Given the description of an element on the screen output the (x, y) to click on. 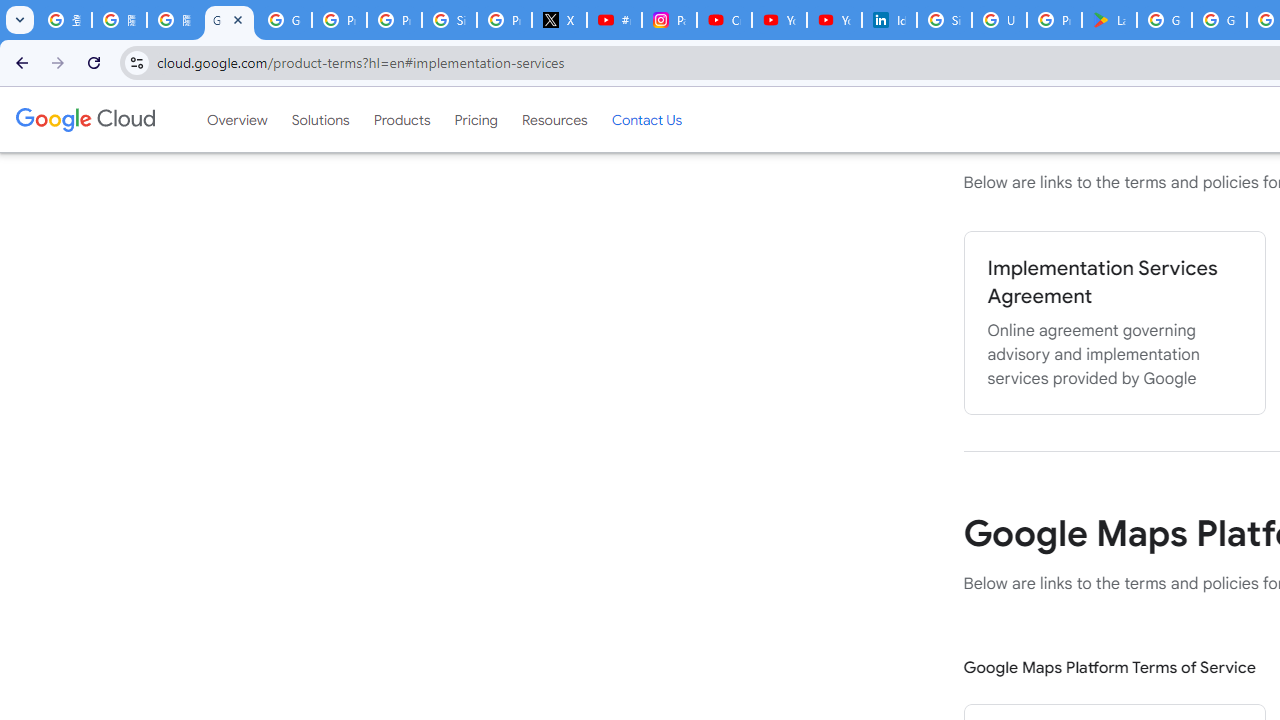
Products (401, 119)
Pricing (476, 119)
X (559, 20)
#nbabasketballhighlights - YouTube (614, 20)
Last Shelter: Survival - Apps on Google Play (1108, 20)
